Given the description of an element on the screen output the (x, y) to click on. 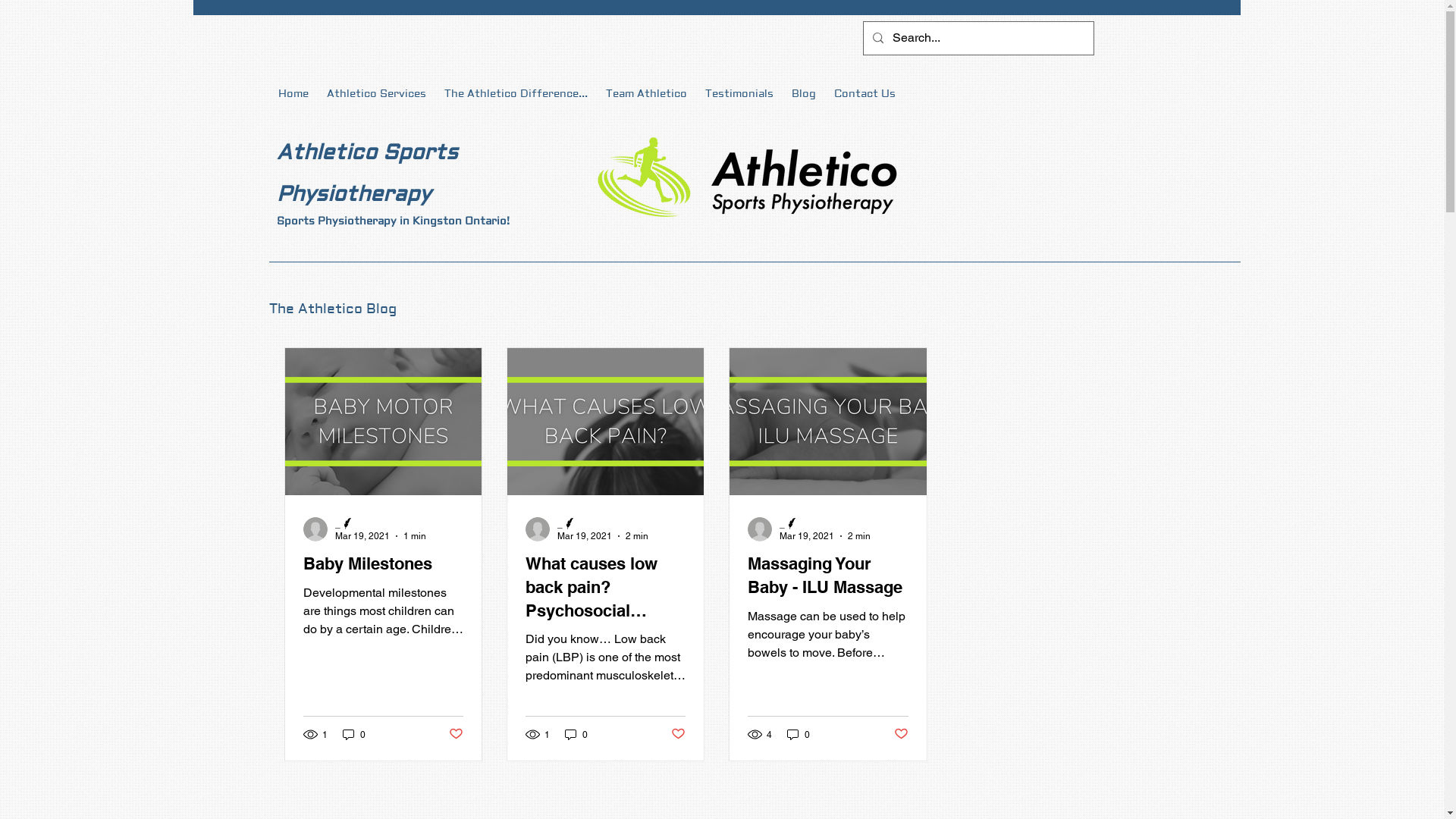
Post not marked as liked Element type: text (900, 734)
Post not marked as liked Element type: text (677, 734)
The Athletico Difference... Element type: text (515, 93)
0 Element type: text (354, 734)
Massaging Your Baby - ILU Massage Element type: text (827, 575)
Athletico Services Element type: text (376, 93)
Home Element type: text (292, 93)
Testimonials Element type: text (739, 93)
Contact Us Element type: text (864, 93)
Blog Element type: text (803, 93)
0 Element type: text (798, 734)
Post not marked as liked Element type: text (455, 734)
Team Athletico Element type: text (646, 93)
0 Element type: text (575, 734)
Baby Milestones Element type: text (383, 563)
